Given the description of an element on the screen output the (x, y) to click on. 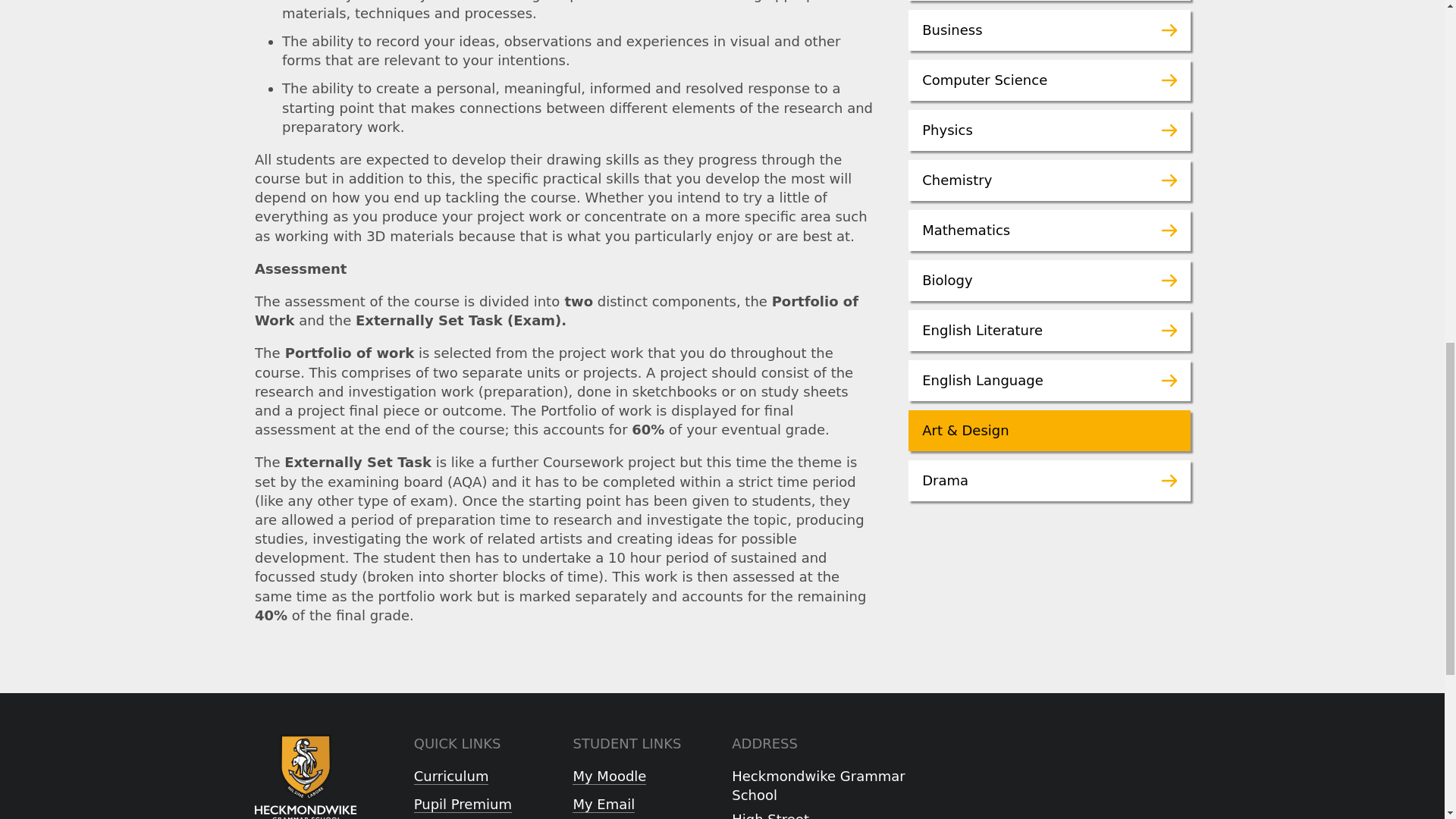
Chemistry (1049, 179)
Computer Science (1049, 79)
Physics (1049, 129)
Biology (1049, 280)
Mathematics (1049, 229)
English Literature (1049, 330)
Business (1049, 29)
English Language (1049, 380)
